Given the description of an element on the screen output the (x, y) to click on. 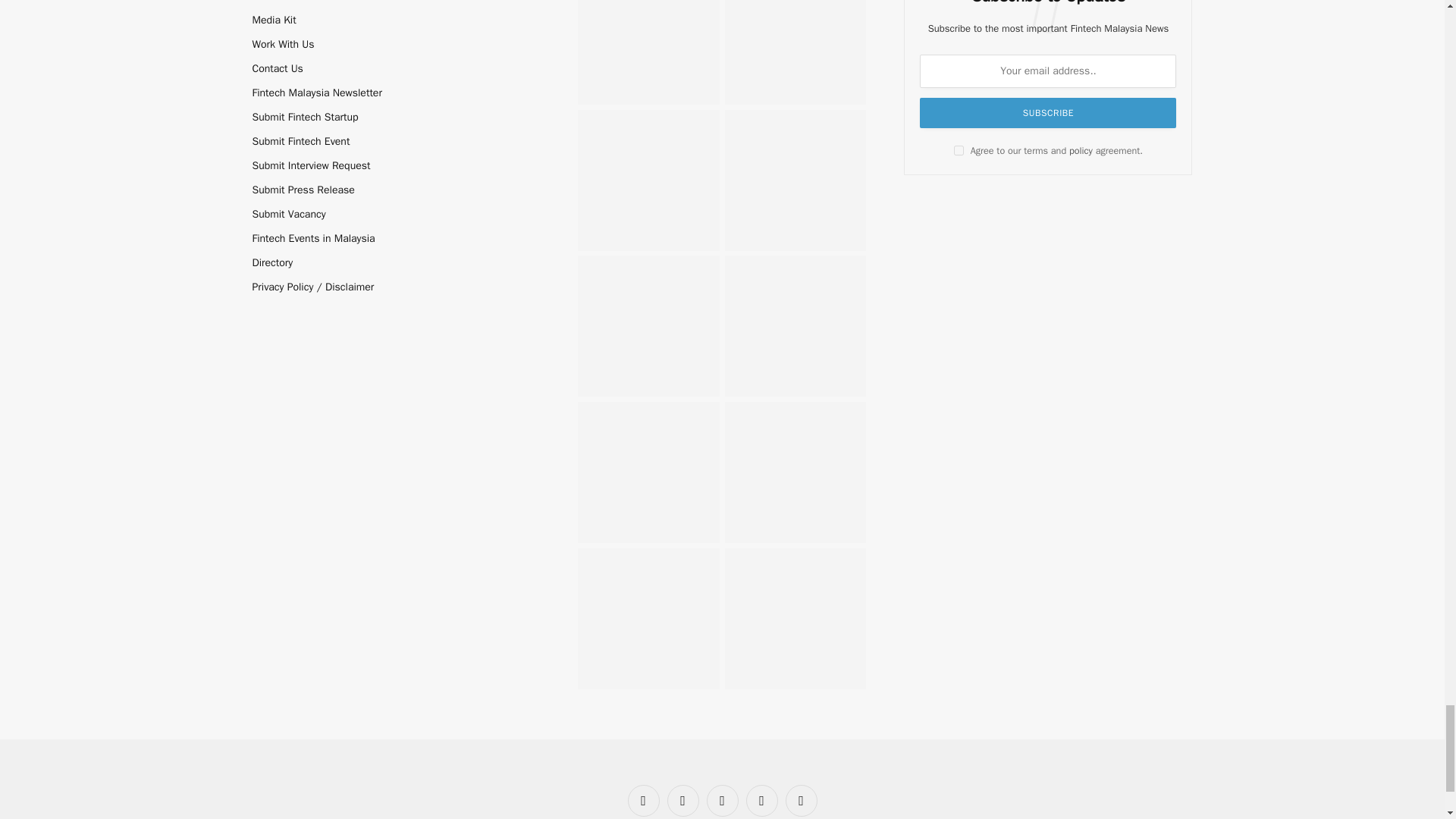
on (958, 150)
Subscribe (1048, 112)
